Given the description of an element on the screen output the (x, y) to click on. 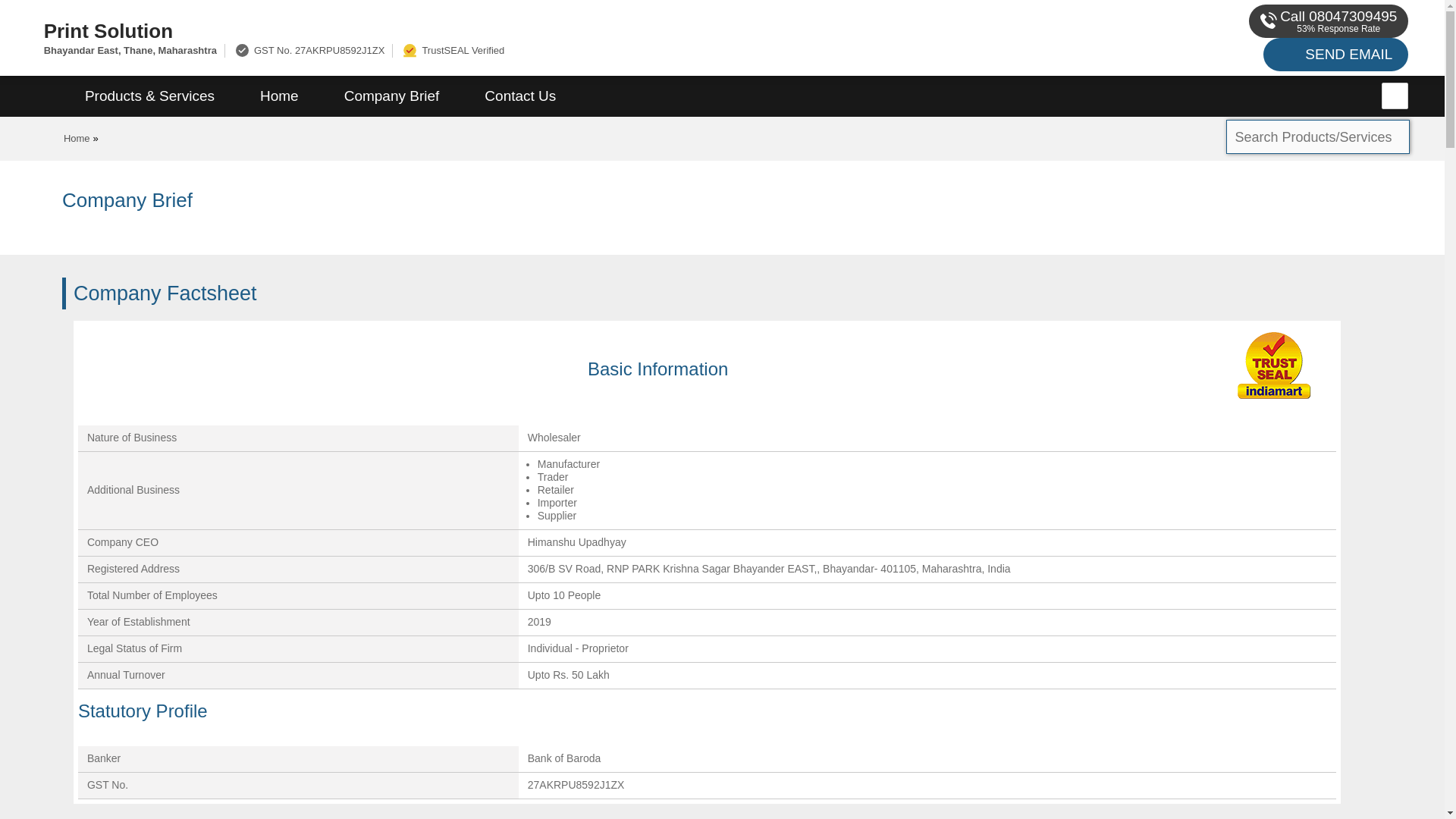
Home (77, 138)
Print Solution (480, 31)
Contact Us (519, 96)
Home (279, 96)
Company Brief (392, 96)
